Given the description of an element on the screen output the (x, y) to click on. 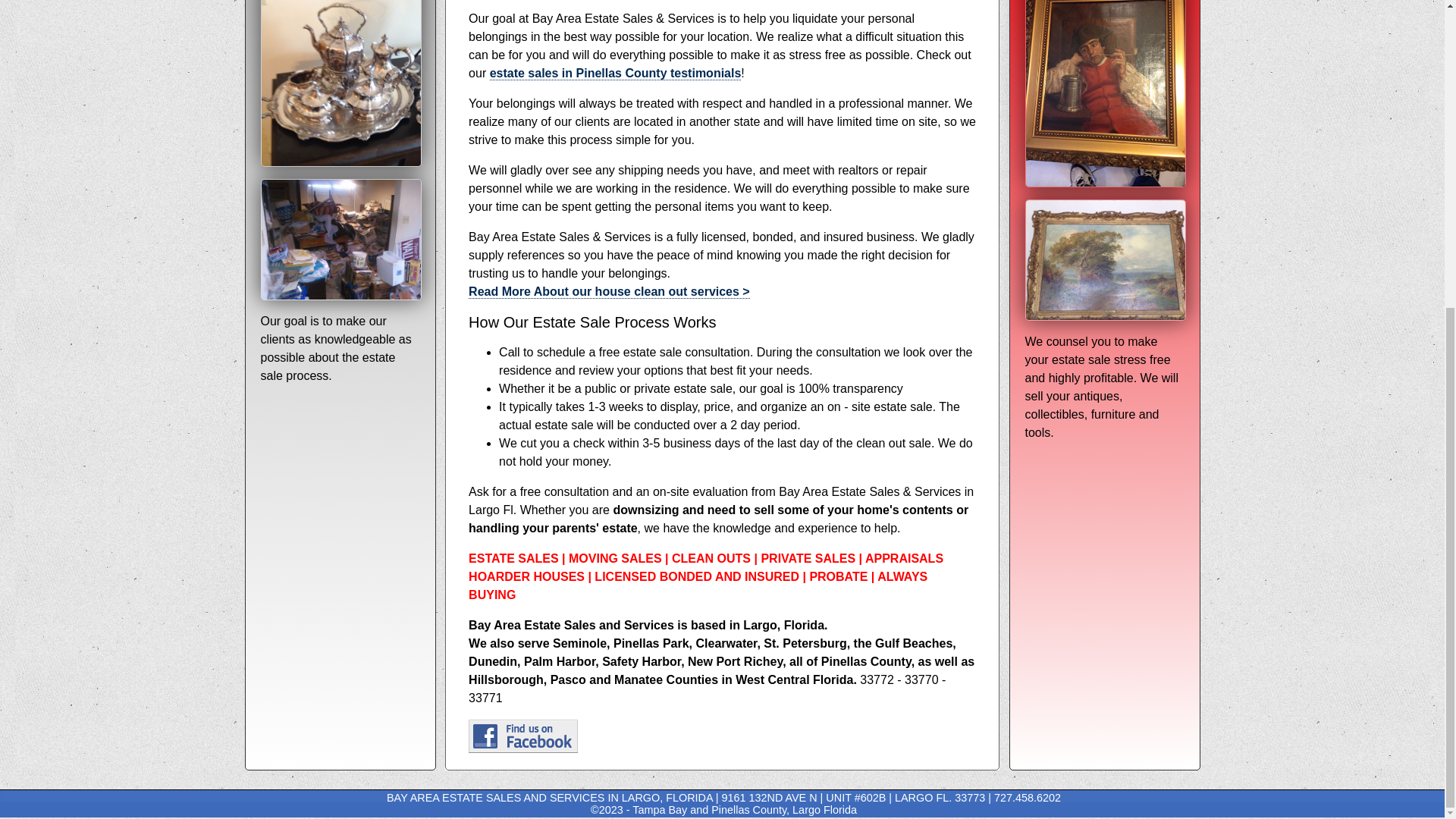
estate sales in Pinellas County testimonials (615, 73)
